Given the description of an element on the screen output the (x, y) to click on. 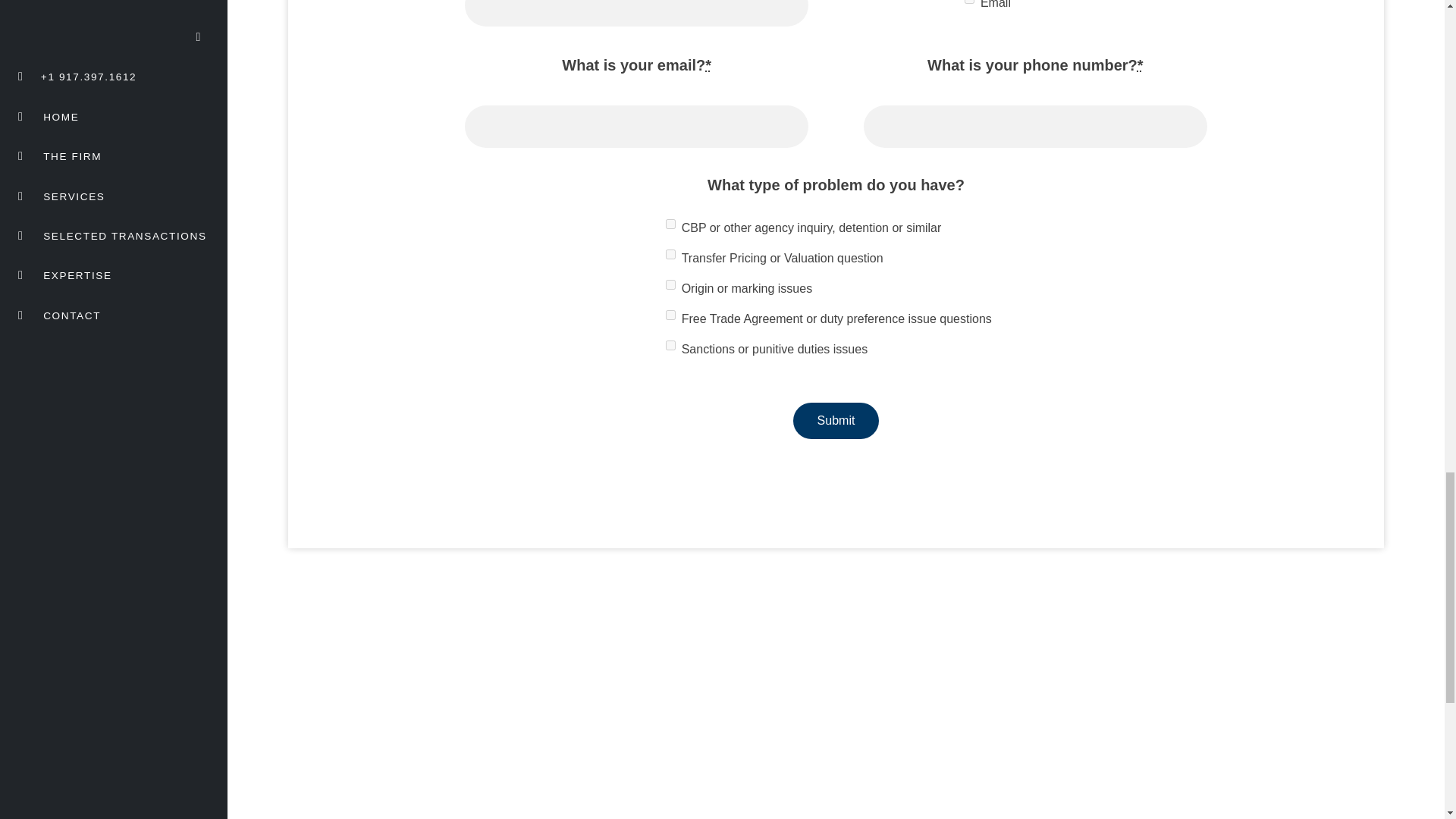
Sanctions or punitive duties issues (670, 345)
Free Trade Agreement or duty preference issue questions (670, 315)
Origin or marking issues (670, 284)
Transfer Pricing or Valuation question (670, 254)
Submit (836, 420)
Submit (836, 420)
Email (968, 2)
CBP or other agency inquiry, detention or similar (670, 224)
